Given the description of an element on the screen output the (x, y) to click on. 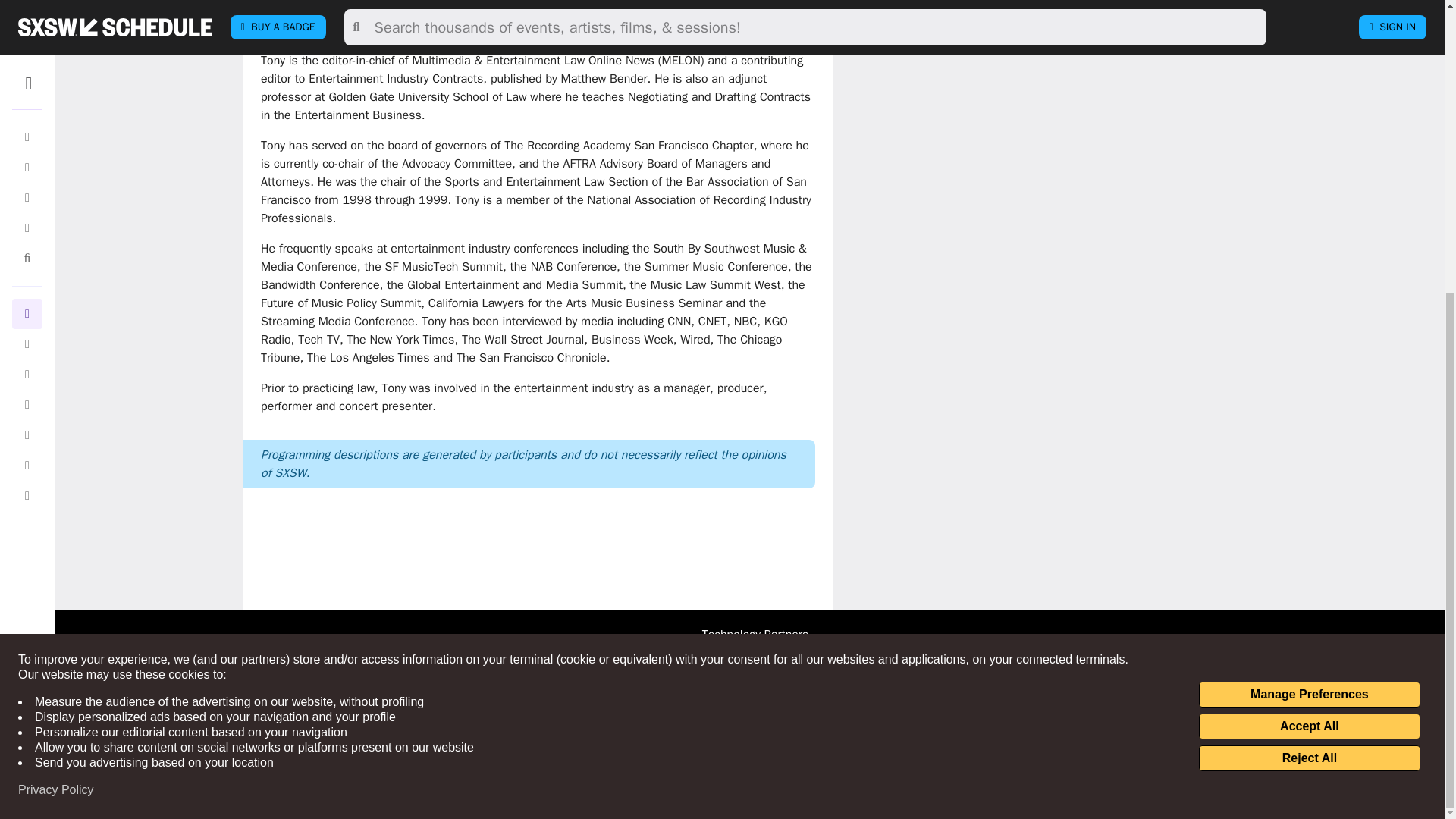
Privacy Policy (55, 341)
Reject All (1309, 309)
Manage Preferences (1309, 246)
Accept All (1309, 278)
